Given the description of an element on the screen output the (x, y) to click on. 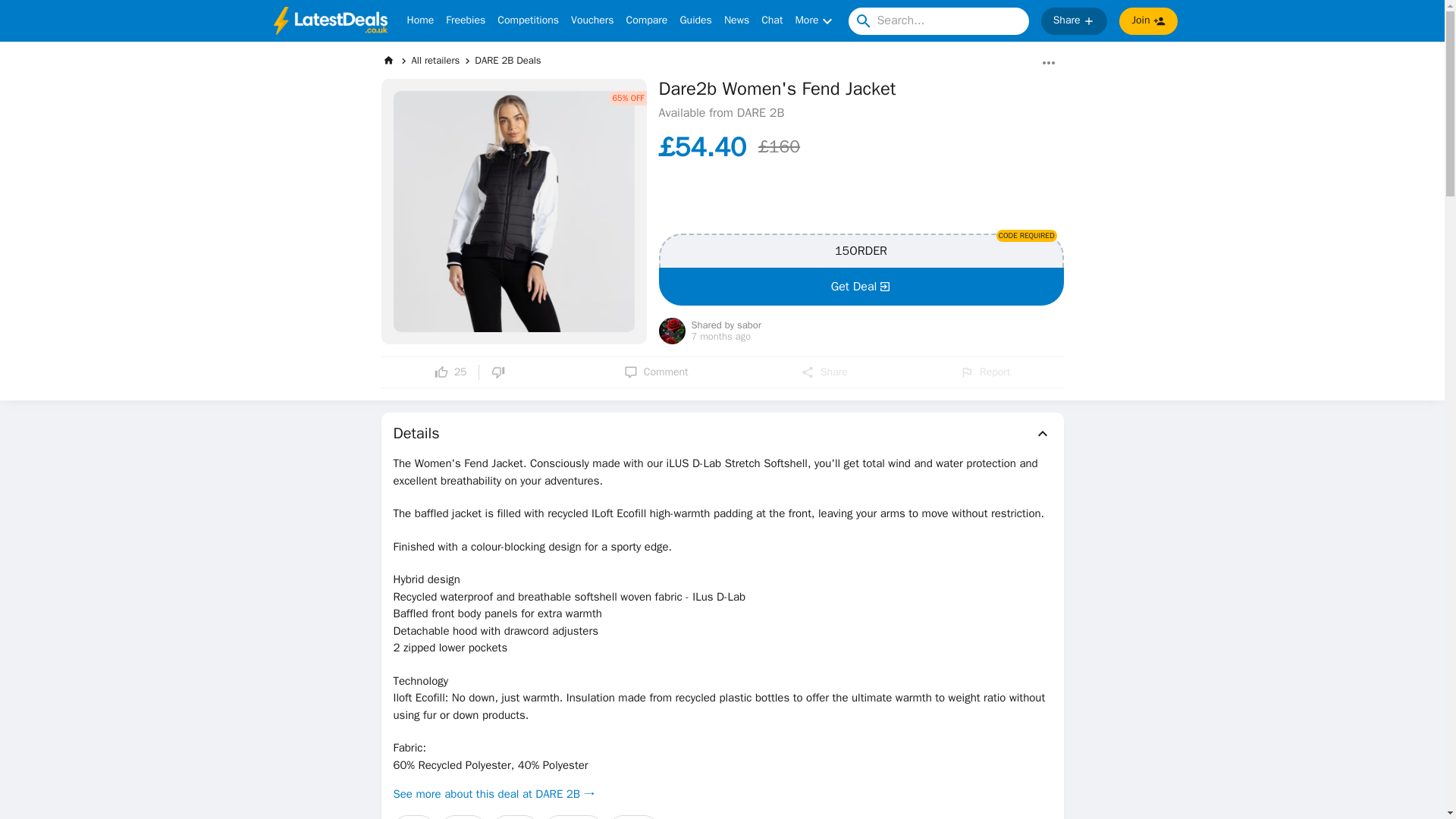
DARE 2B Deals (507, 60)
Women (514, 816)
Shared by sabor (726, 325)
Share (1074, 21)
Jacket (413, 816)
News (736, 21)
Vouchers (591, 21)
Freebies (464, 21)
Comment (656, 371)
Jackets (463, 816)
